Given the description of an element on the screen output the (x, y) to click on. 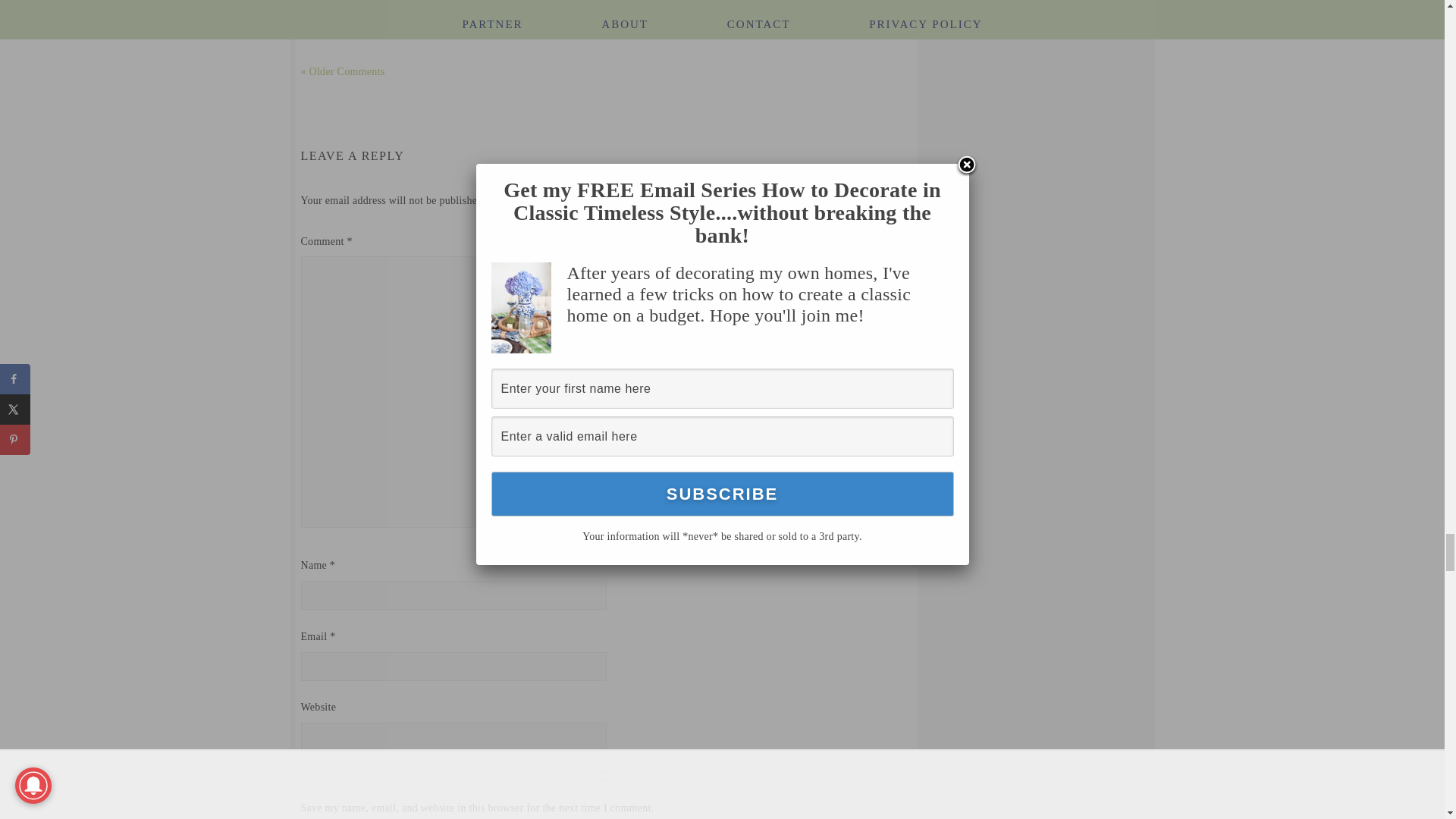
yes (605, 776)
